Given the description of an element on the screen output the (x, y) to click on. 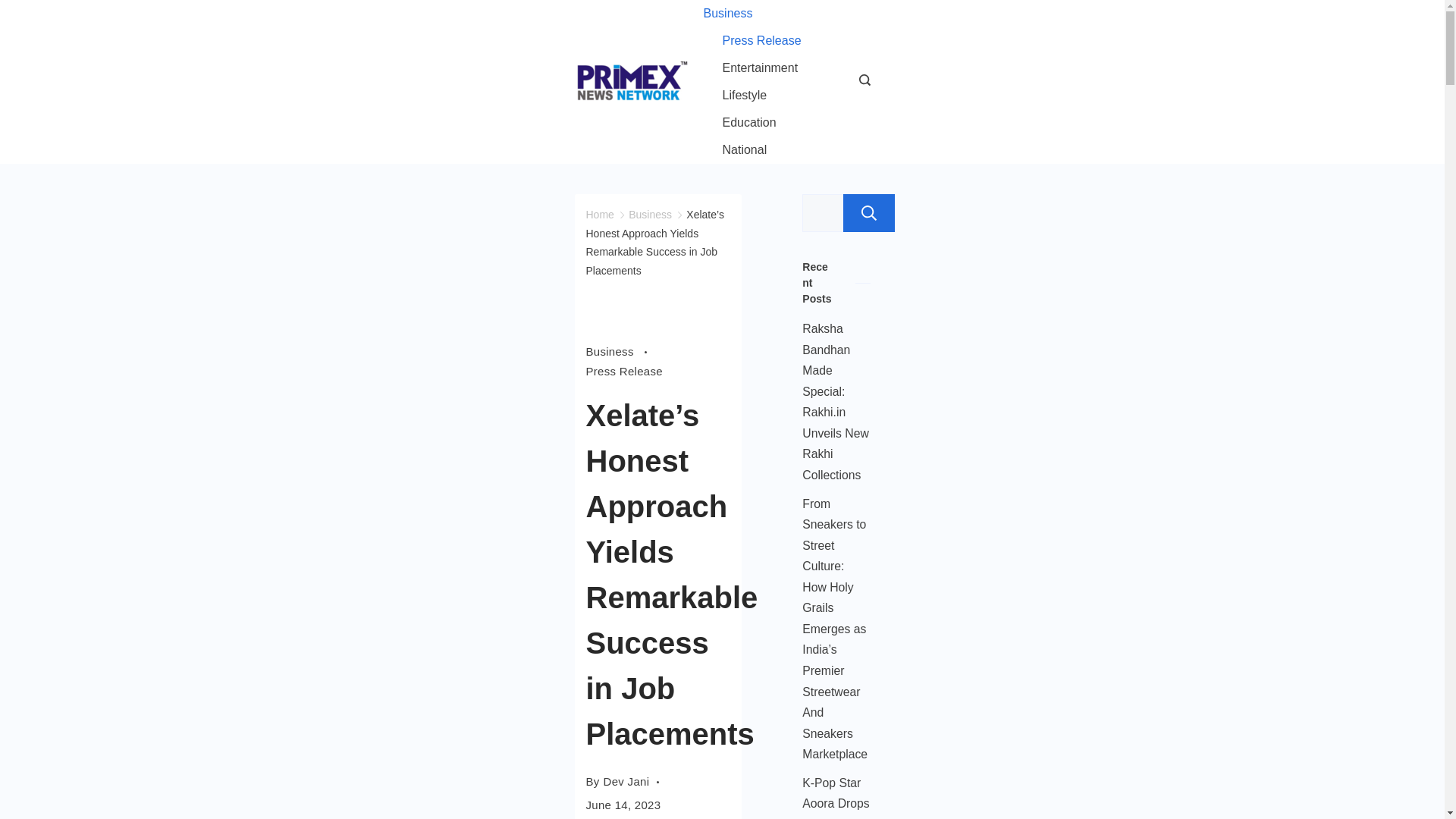
Press Release (762, 40)
Business (737, 13)
Lifestyle (744, 94)
Dev Jani (626, 780)
Business (649, 214)
Business (619, 351)
National (735, 149)
Home (598, 214)
Education (748, 122)
Entertainment (759, 67)
Press Release (623, 371)
